Given the description of an element on the screen output the (x, y) to click on. 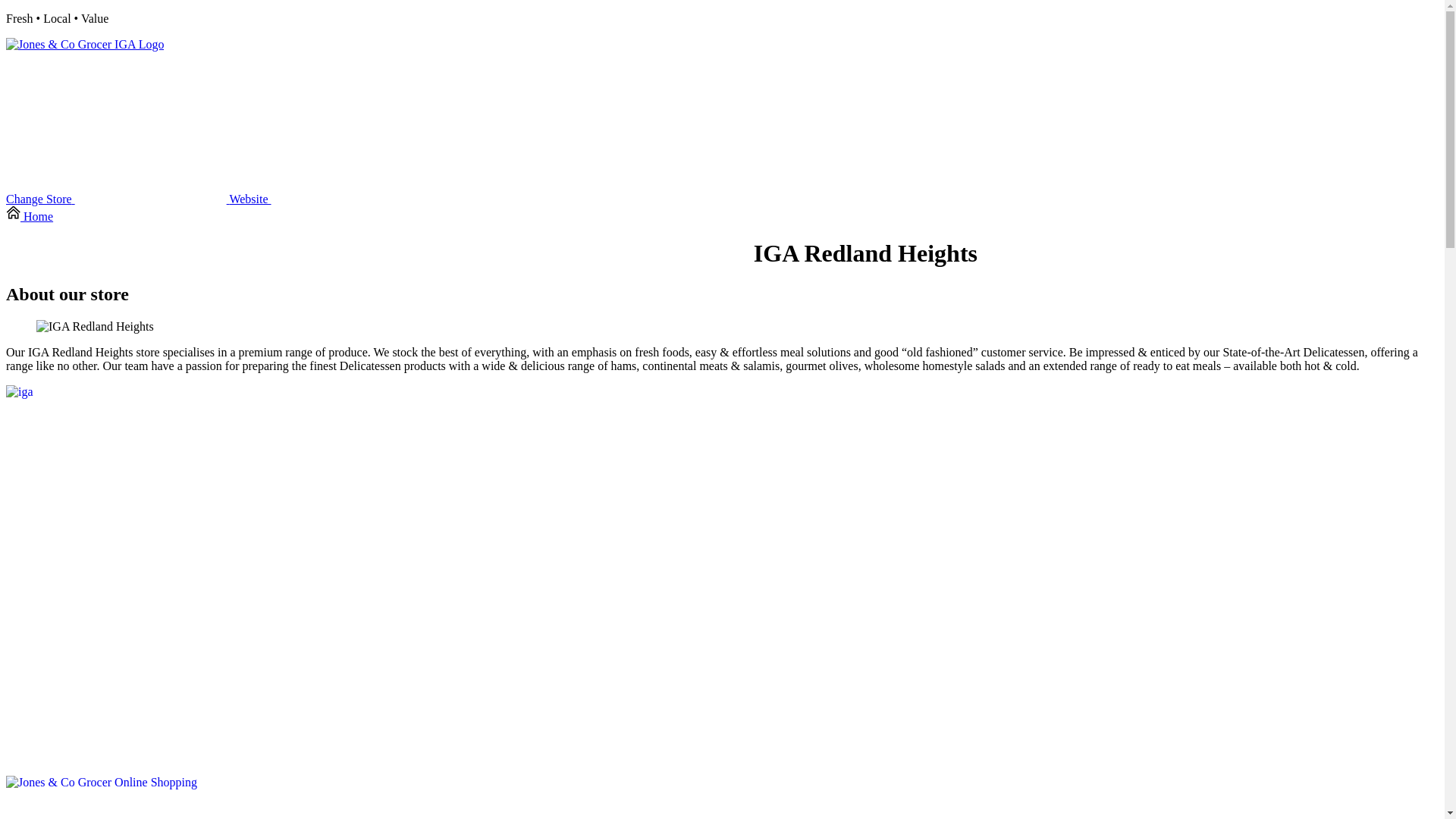
Change Store Store Location Element type: text (117, 198)
Website chevron-right Element type: text (325, 198)
Home Element type: text (29, 216)
Jones & Co Grocer IGA Logo Element type: hover (84, 44)
click to go to this online store home page Element type: hover (84, 43)
